Given the description of an element on the screen output the (x, y) to click on. 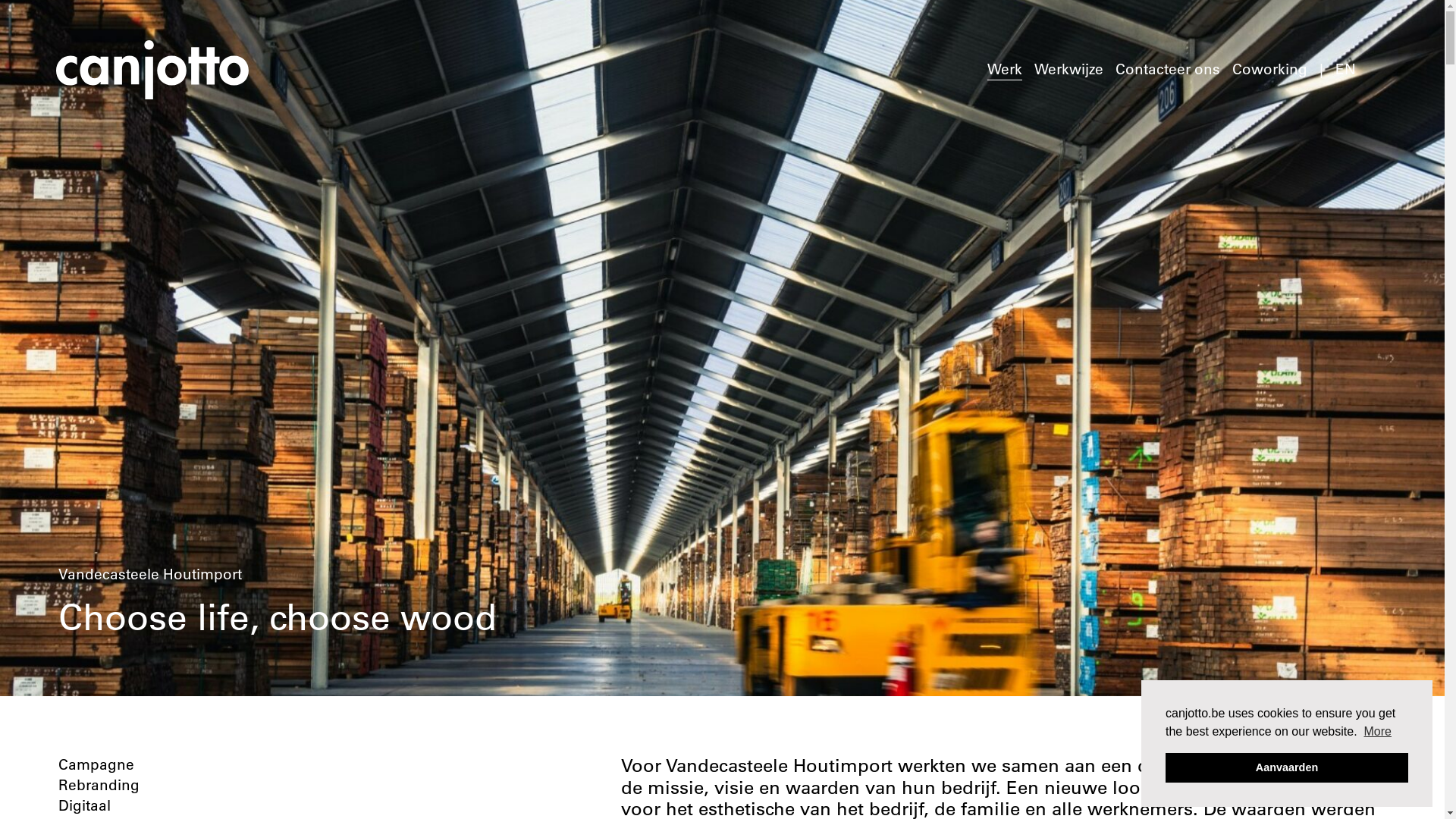
Canjotto Element type: text (152, 69)
Aanvaarden Element type: text (1286, 767)
Contacteer ons Element type: text (1167, 69)
Coworking Element type: text (1269, 69)
More Element type: text (1376, 730)
Werkwijze Element type: text (1068, 69)
Werk Element type: text (1004, 69)
EN Element type: text (1345, 69)
